Given the description of an element on the screen output the (x, y) to click on. 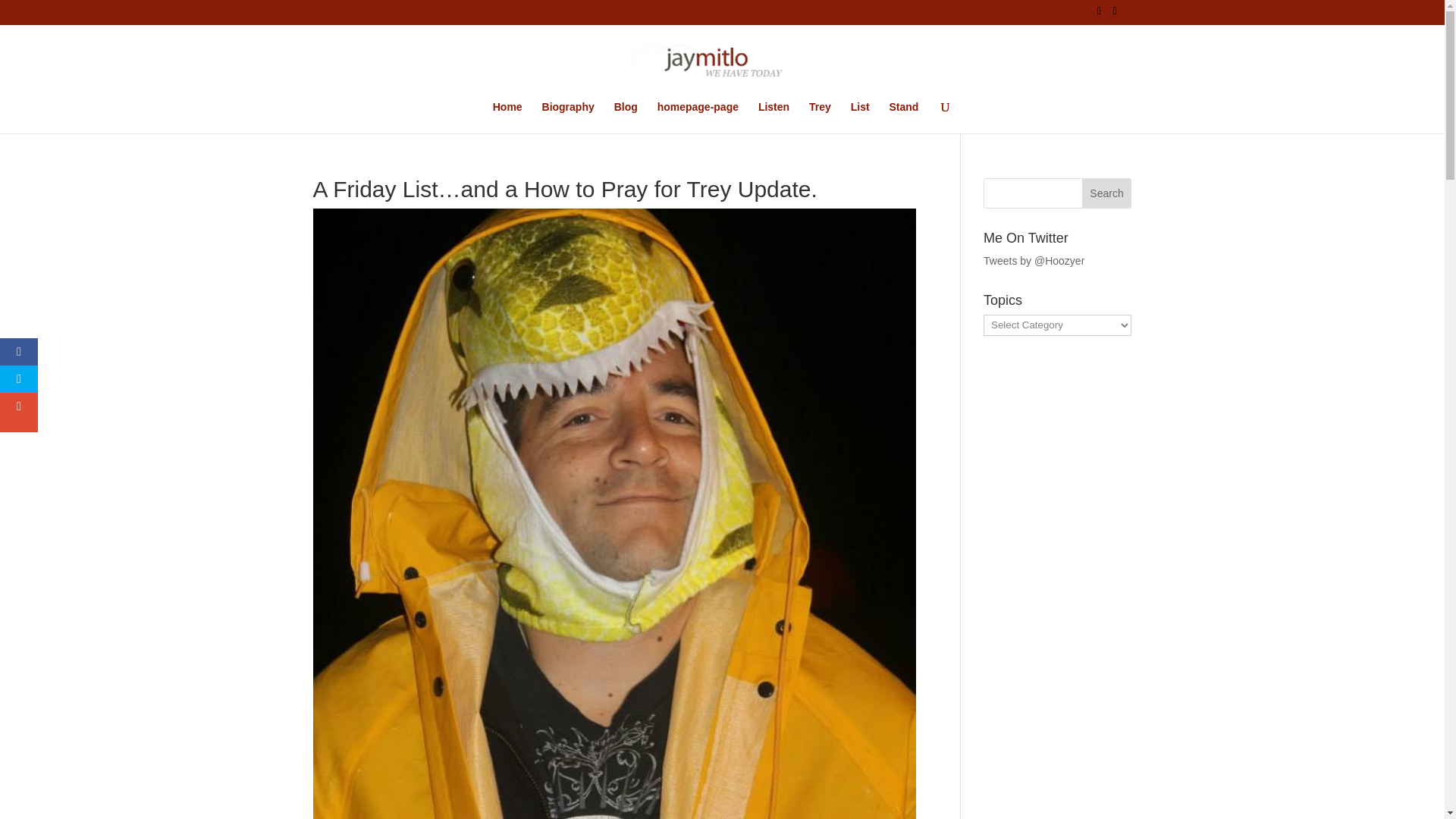
Search (1106, 193)
Listen (773, 117)
50 Shades Jay (612, 706)
Biography (567, 117)
Home (507, 117)
Search (1106, 193)
Stand (903, 117)
homepage-page (698, 117)
Download PDF (354, 616)
